Given the description of an element on the screen output the (x, y) to click on. 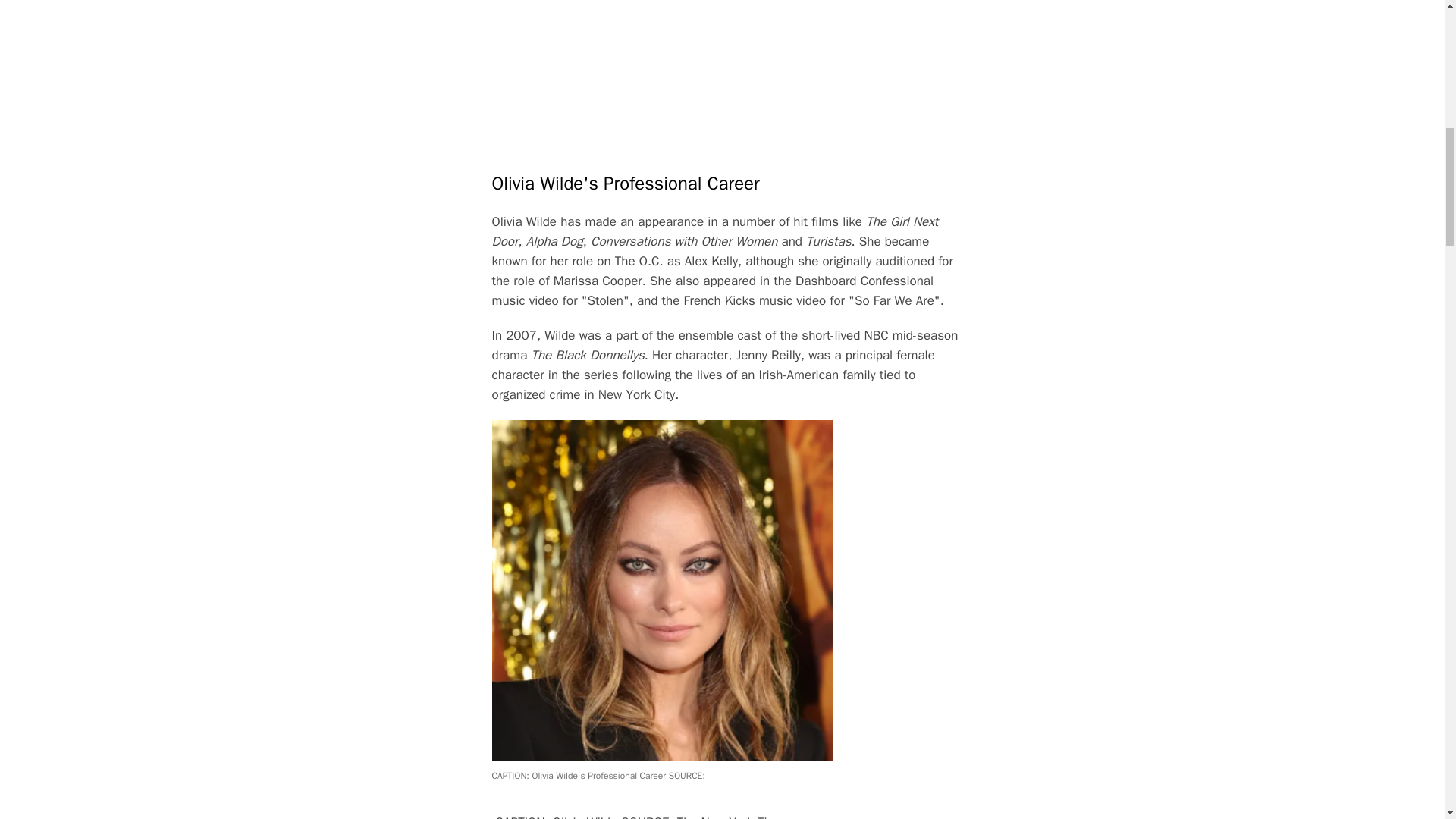
Advertisement (725, 81)
